Given the description of an element on the screen output the (x, y) to click on. 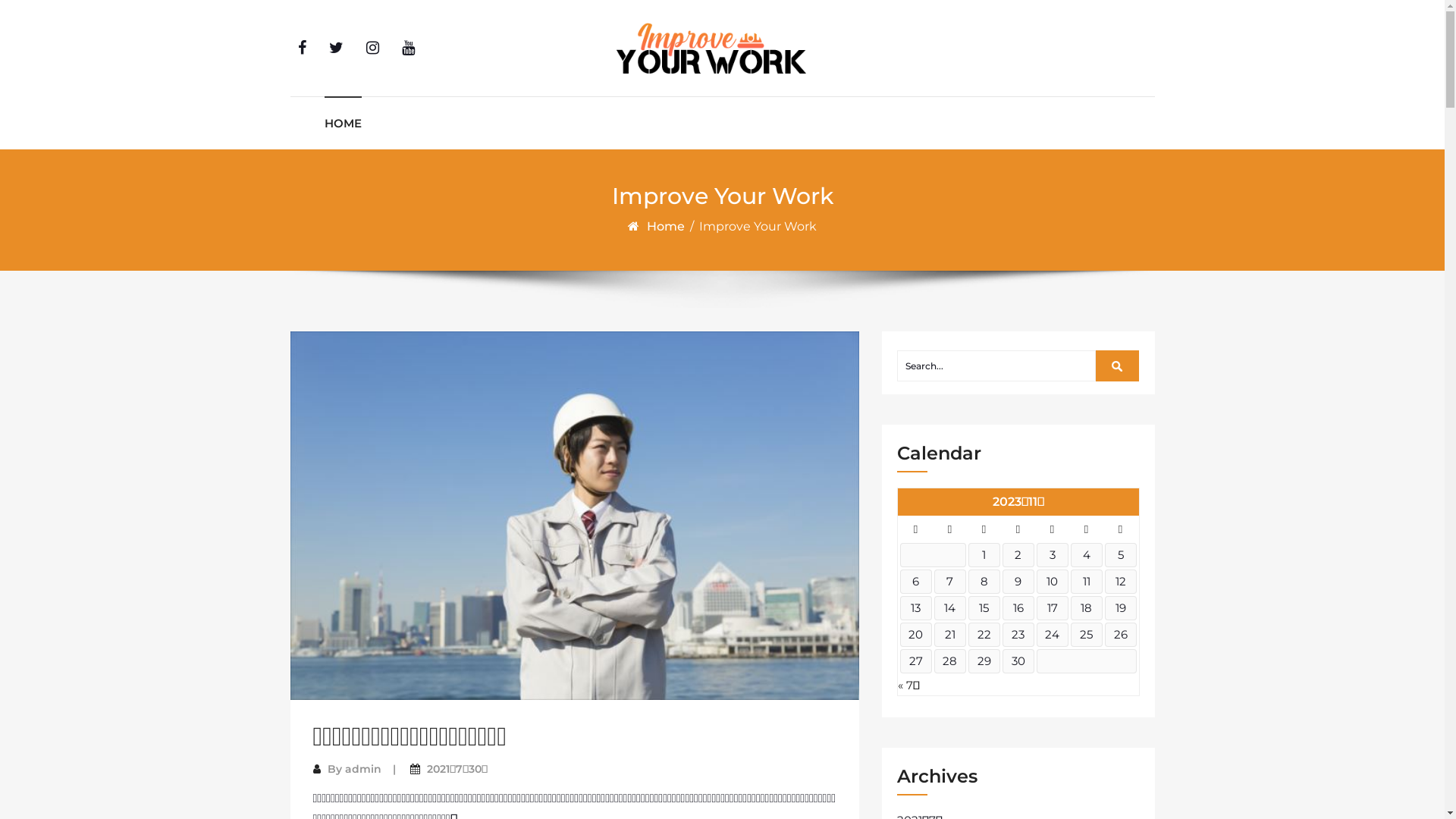
admin Element type: text (362, 768)
HOME Element type: text (342, 123)
Home Element type: text (666, 226)
Search Element type: text (1117, 365)
